Given the description of an element on the screen output the (x, y) to click on. 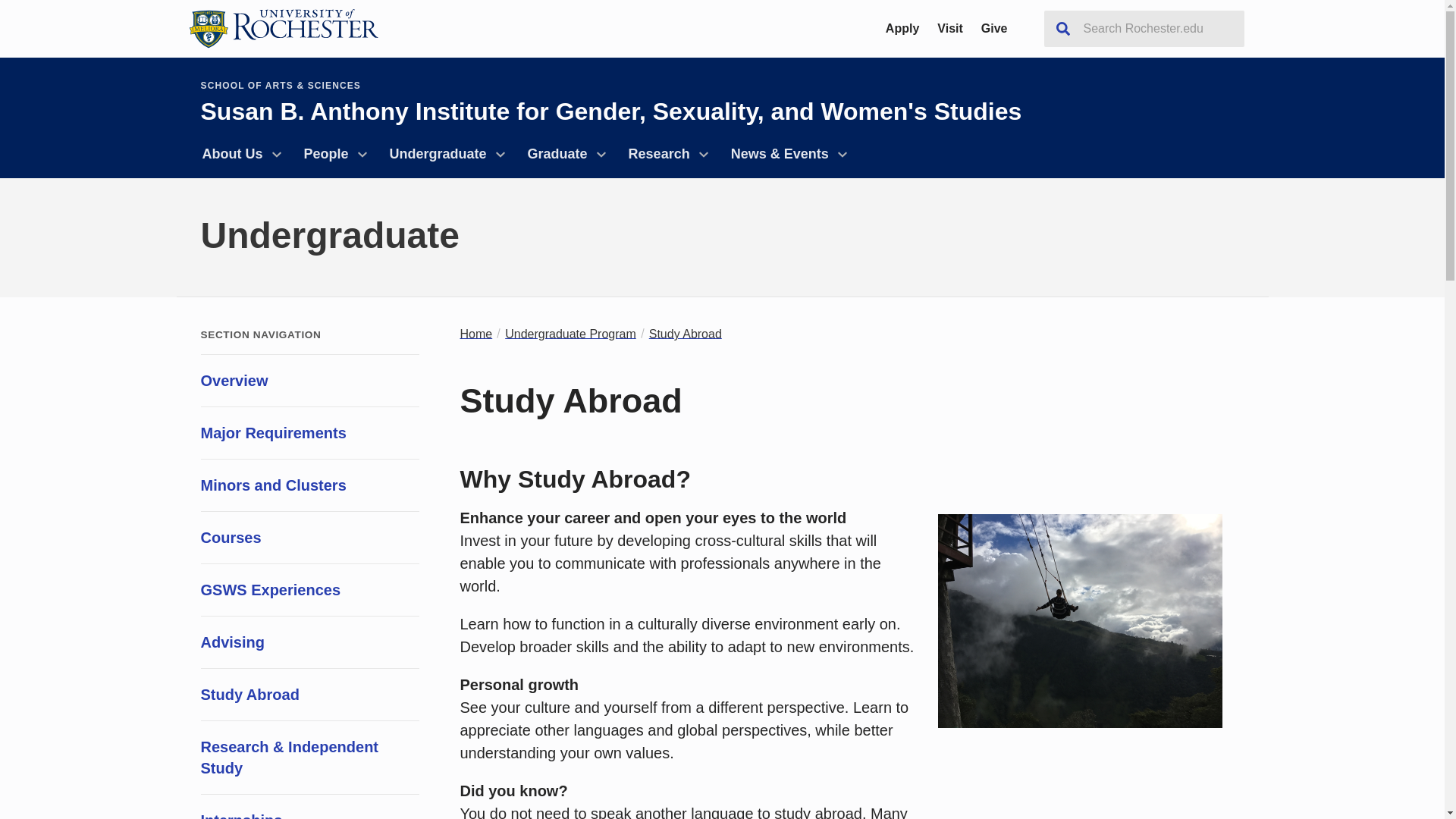
Search (1062, 28)
People (332, 154)
About Us (238, 154)
Undergraduate (444, 154)
University of Rochester (282, 28)
